Given the description of an element on the screen output the (x, y) to click on. 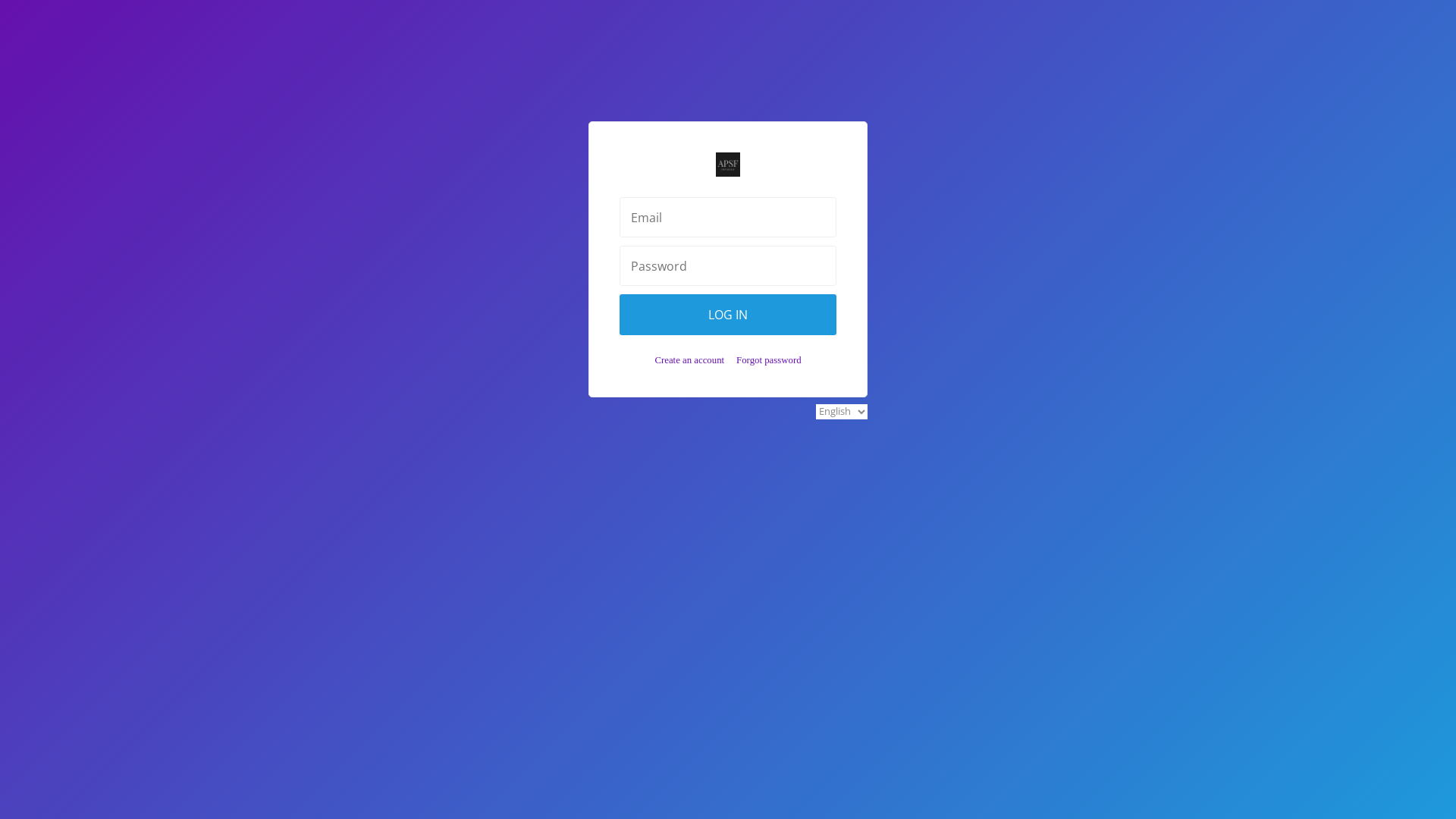
LOG IN Element type: text (727, 314)
Create an account Element type: text (689, 359)
Forgot password Element type: text (768, 359)
